Given the description of an element on the screen output the (x, y) to click on. 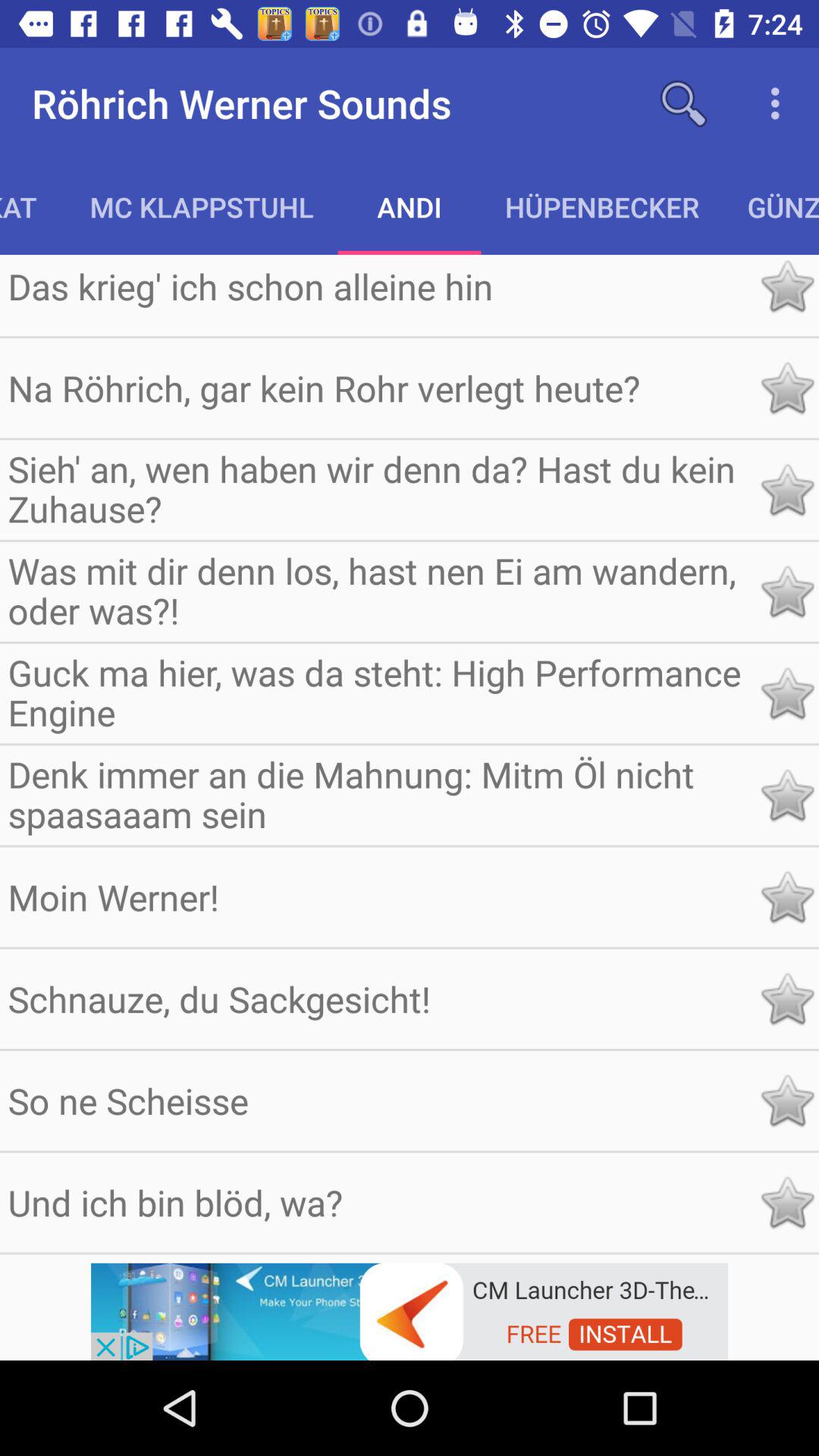
open advertisement (409, 1310)
